Given the description of an element on the screen output the (x, y) to click on. 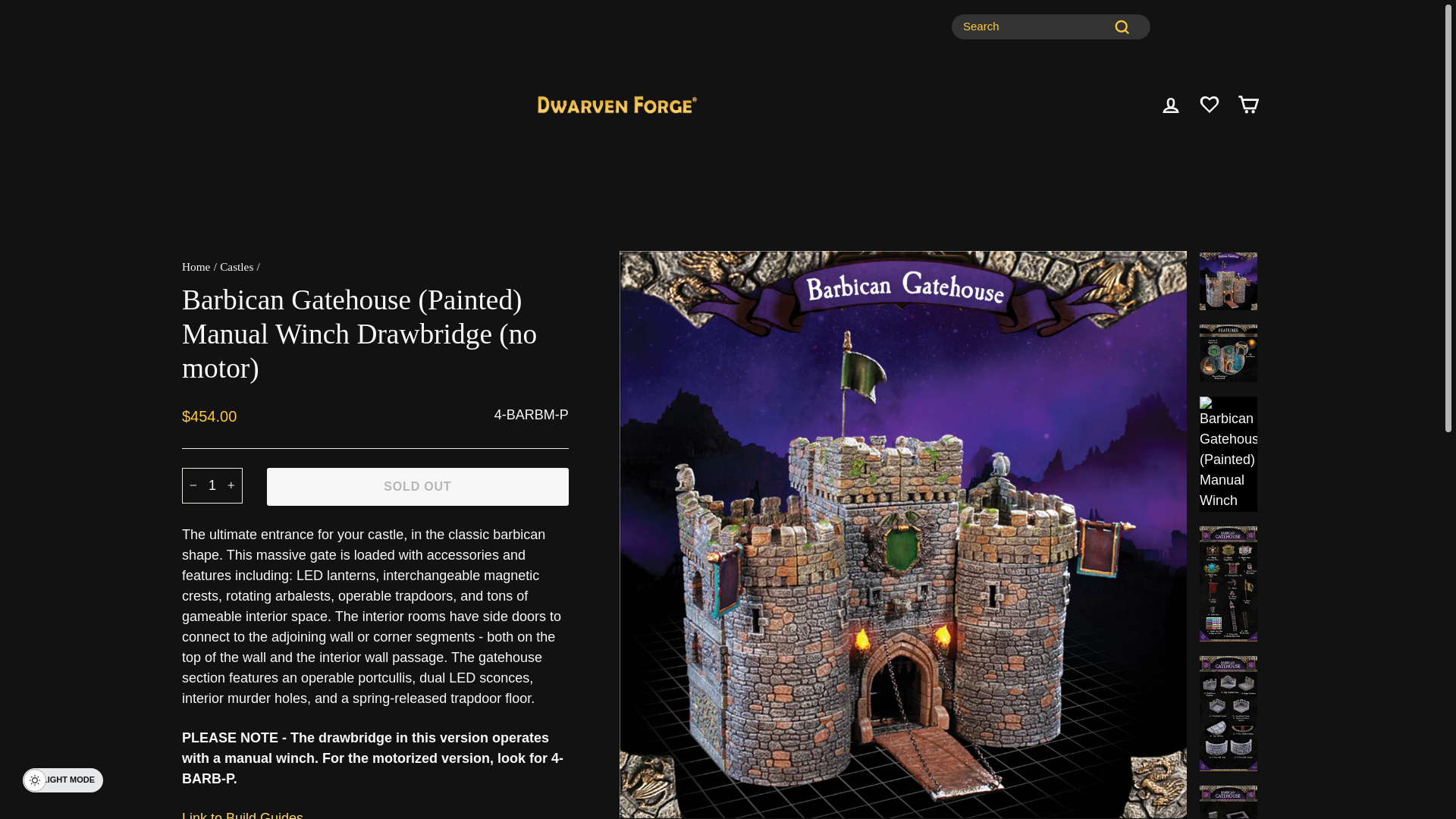
Castles (236, 266)
Home (195, 266)
ACCOUNT (1171, 104)
Build Guides for Construct-a-Castle (1170, 105)
CART (242, 813)
Back to the frontpage (1248, 104)
1 (195, 266)
SEARCH (212, 485)
